Given the description of an element on the screen output the (x, y) to click on. 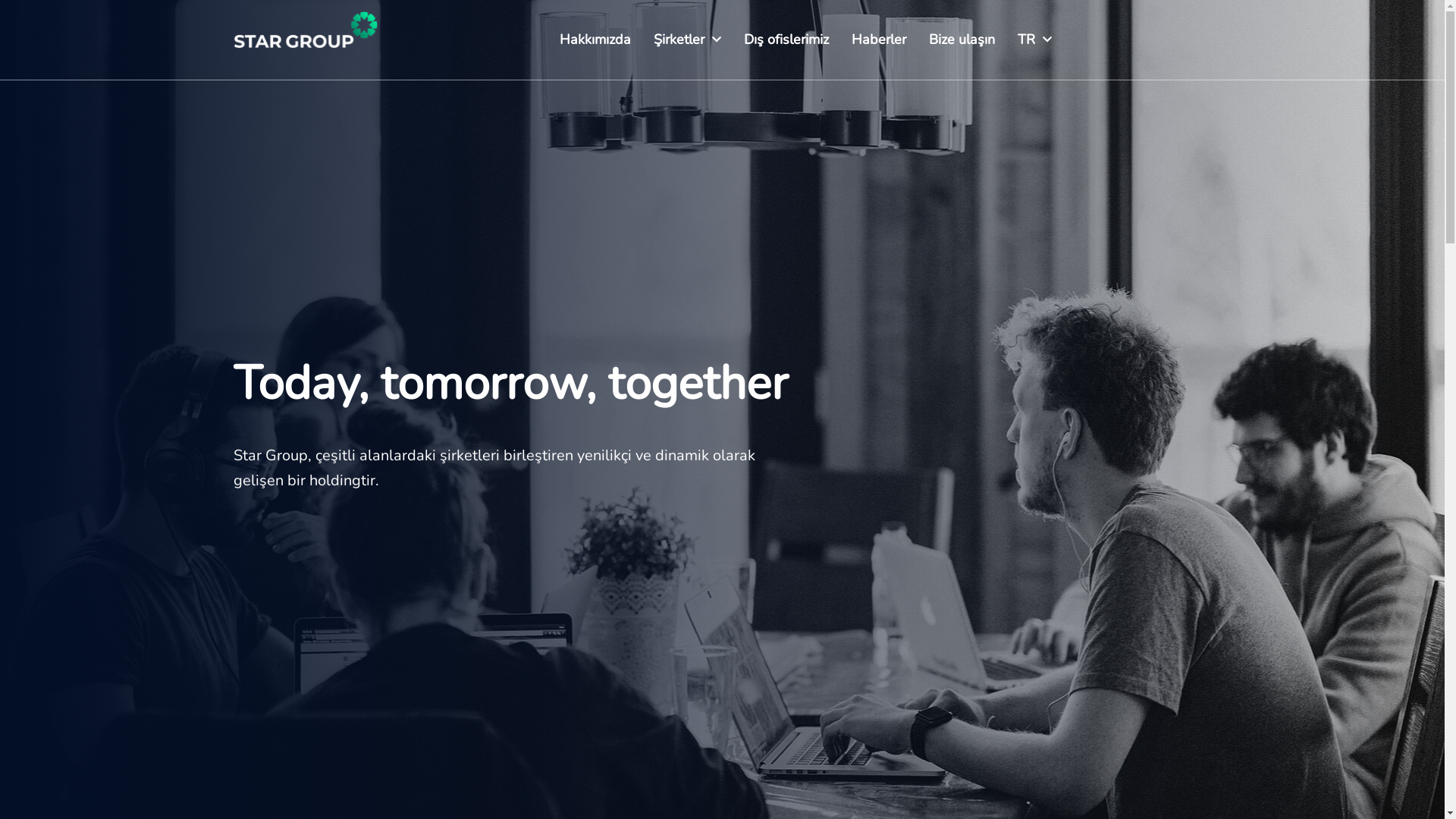
TR Element type: text (1034, 39)
Haberler Element type: text (878, 39)
